Given the description of an element on the screen output the (x, y) to click on. 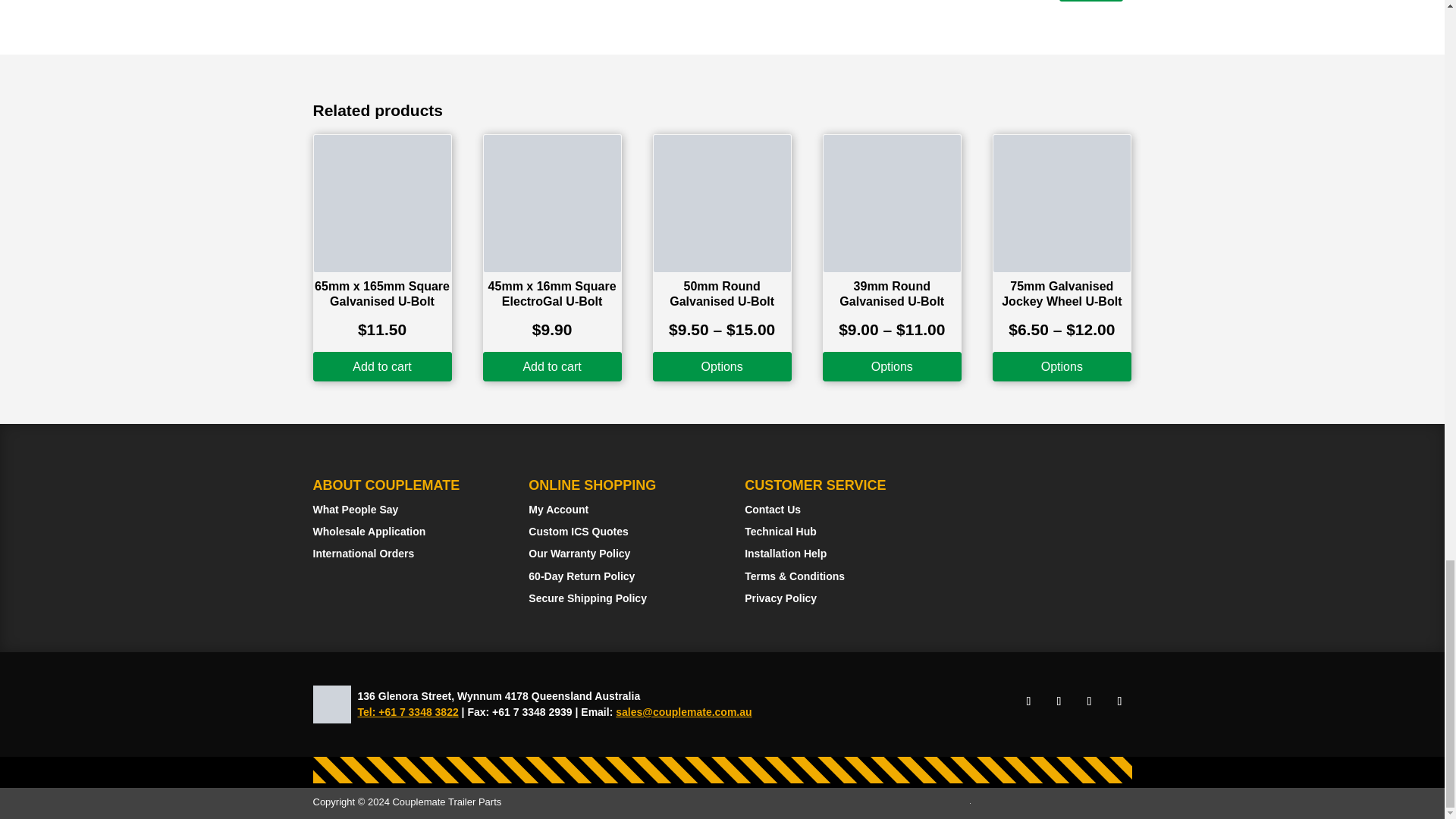
couplemate-icon-logo-50 (331, 704)
Follow on LinkedIn (1088, 701)
Follow on Pinterest (1118, 701)
Follow on Facebook (1028, 701)
Follow on Instagram (1058, 701)
